Given the description of an element on the screen output the (x, y) to click on. 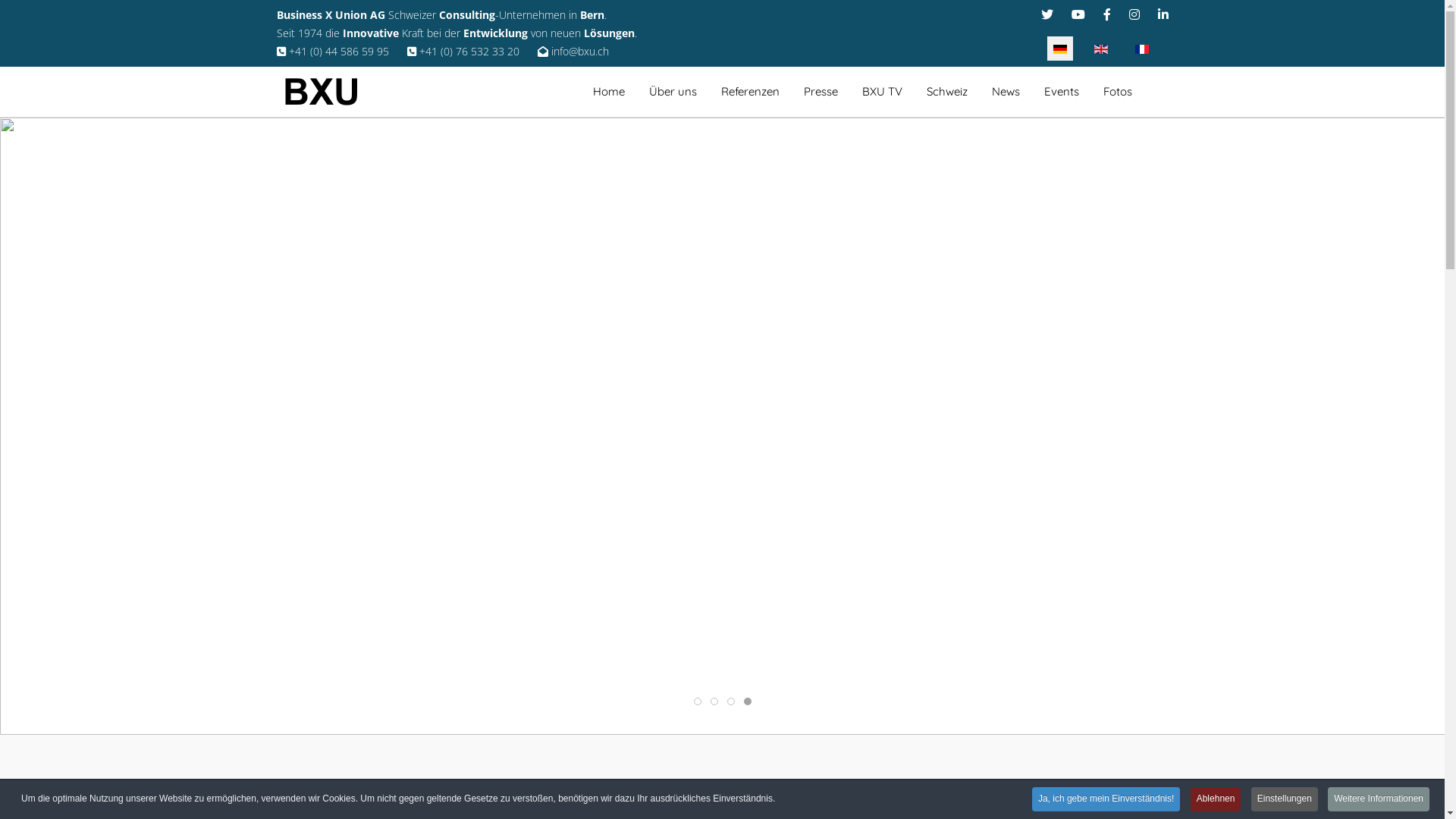
Facebook Element type: hover (1106, 14)
Twitter Element type: hover (1046, 14)
Instagram Element type: hover (1133, 14)
1 Element type: text (686, 187)
News Element type: text (1005, 91)
Fotos Element type: text (1116, 91)
Alle Cookies erlauben Element type: text (588, 542)
English (United Kingdom) Element type: hover (1100, 48)
Deutsch (Deutschland) Element type: hover (1059, 48)
Referenzen Element type: text (749, 91)
Einstellungen Element type: text (1284, 799)
BXU TV Element type: text (881, 91)
+41 (0) 44 586 59 95 Element type: text (332, 50)
Weitere Informationen Element type: text (1378, 799)
Ablehnen Element type: text (1215, 799)
YouTube Element type: hover (1077, 14)
LinkedIn Element type: hover (1162, 14)
+41 (0) 76 532 33 20 Element type: text (462, 50)
Events Element type: text (1060, 91)
Schweiz Element type: text (946, 91)
Einstellungen speichern Element type: text (866, 542)
info@bxu.ch Element type: text (572, 50)
Alle Cookies ablehnen Element type: text (727, 542)
Presse Element type: text (820, 91)
Home Element type: text (608, 91)
